Given the description of an element on the screen output the (x, y) to click on. 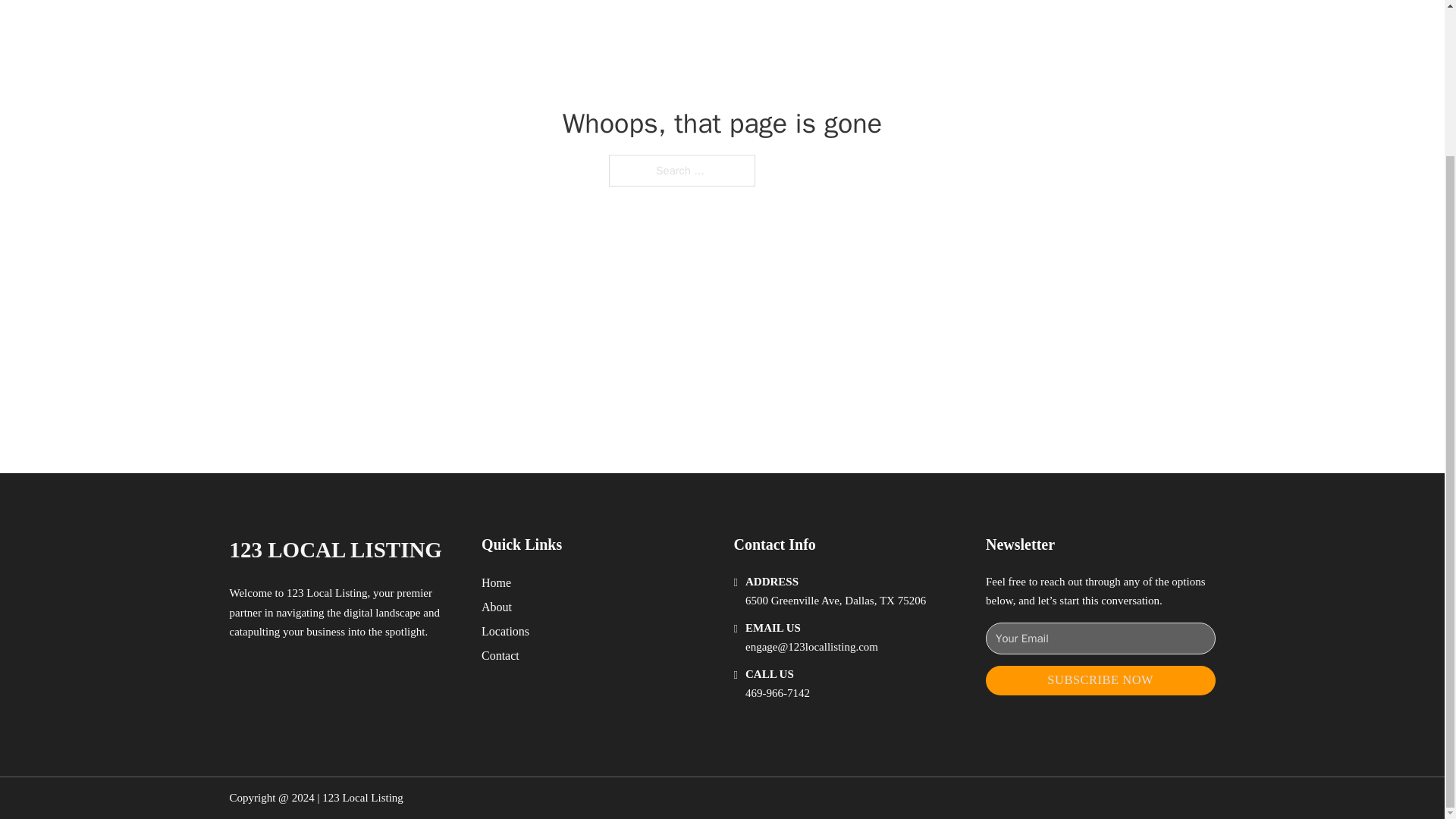
About (496, 607)
Contact (500, 655)
Home (496, 582)
Locations (505, 630)
123 LOCAL LISTING (334, 549)
469-966-7142 (777, 693)
SUBSCRIBE NOW (1100, 680)
